Given the description of an element on the screen output the (x, y) to click on. 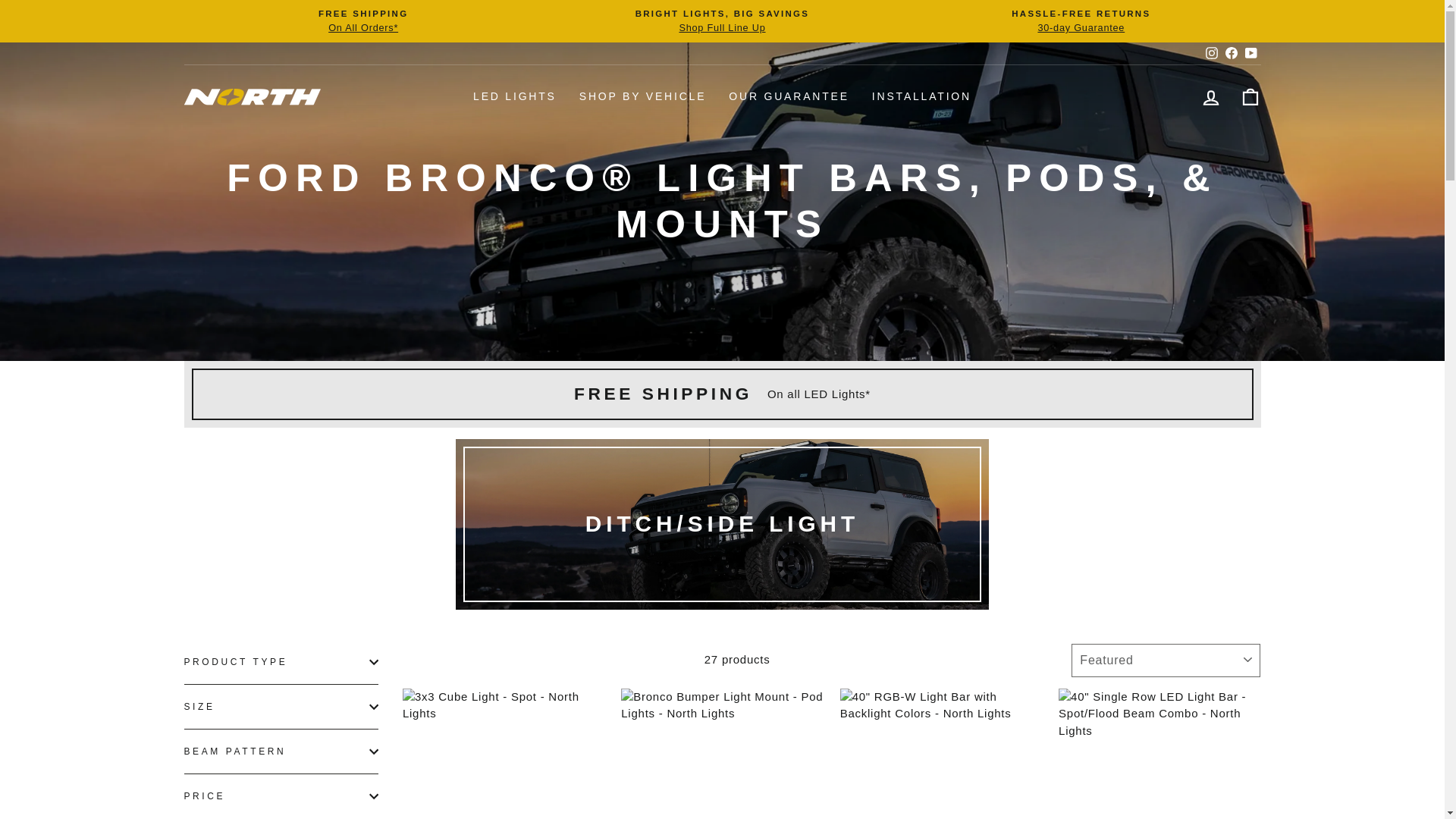
North Lights Co on YouTube (1250, 53)
North Lights Co on Facebook (1230, 53)
North Lights Co on Instagram (1211, 53)
